Given the description of an element on the screen output the (x, y) to click on. 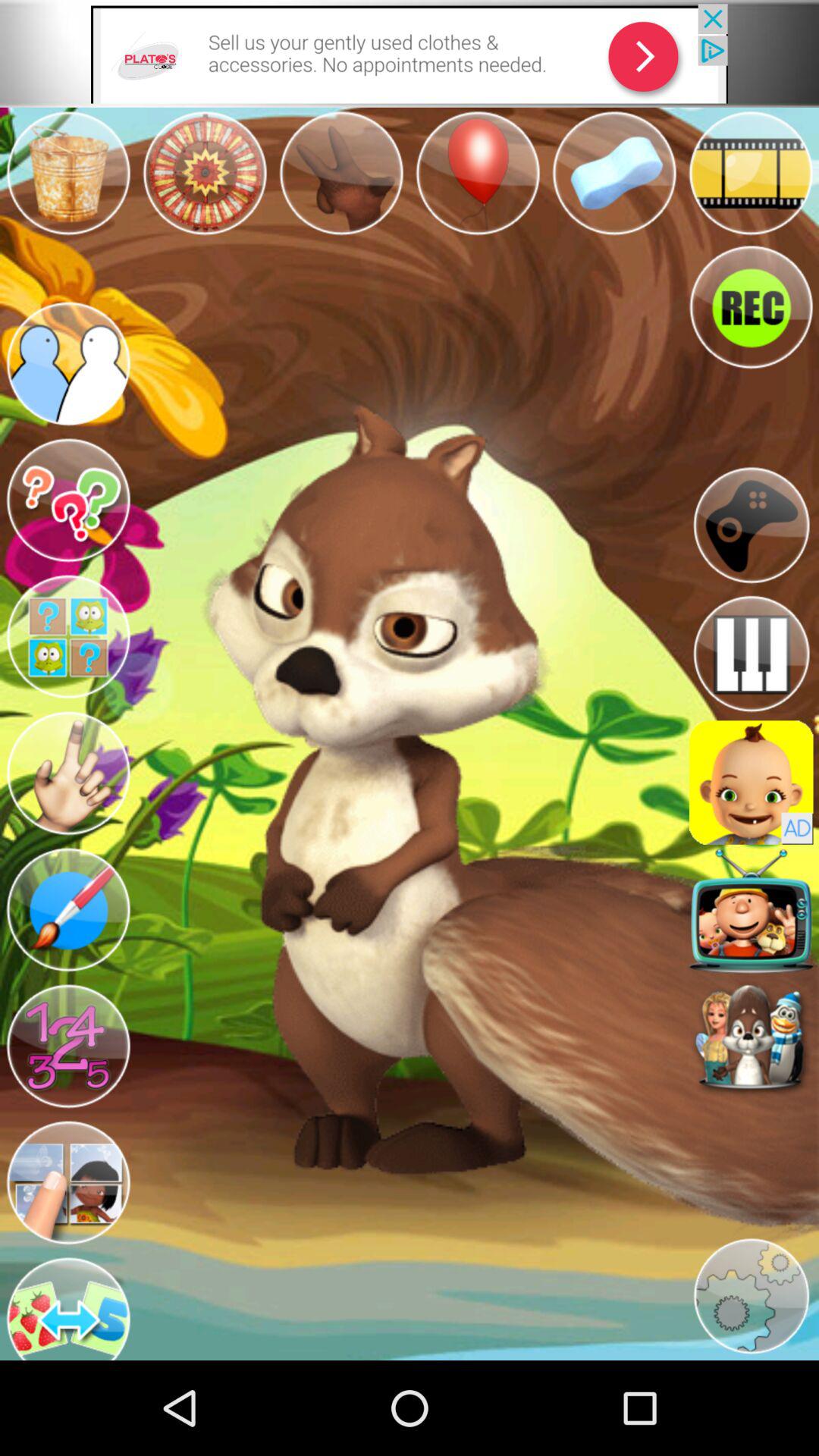
advertisement (409, 53)
